Given the description of an element on the screen output the (x, y) to click on. 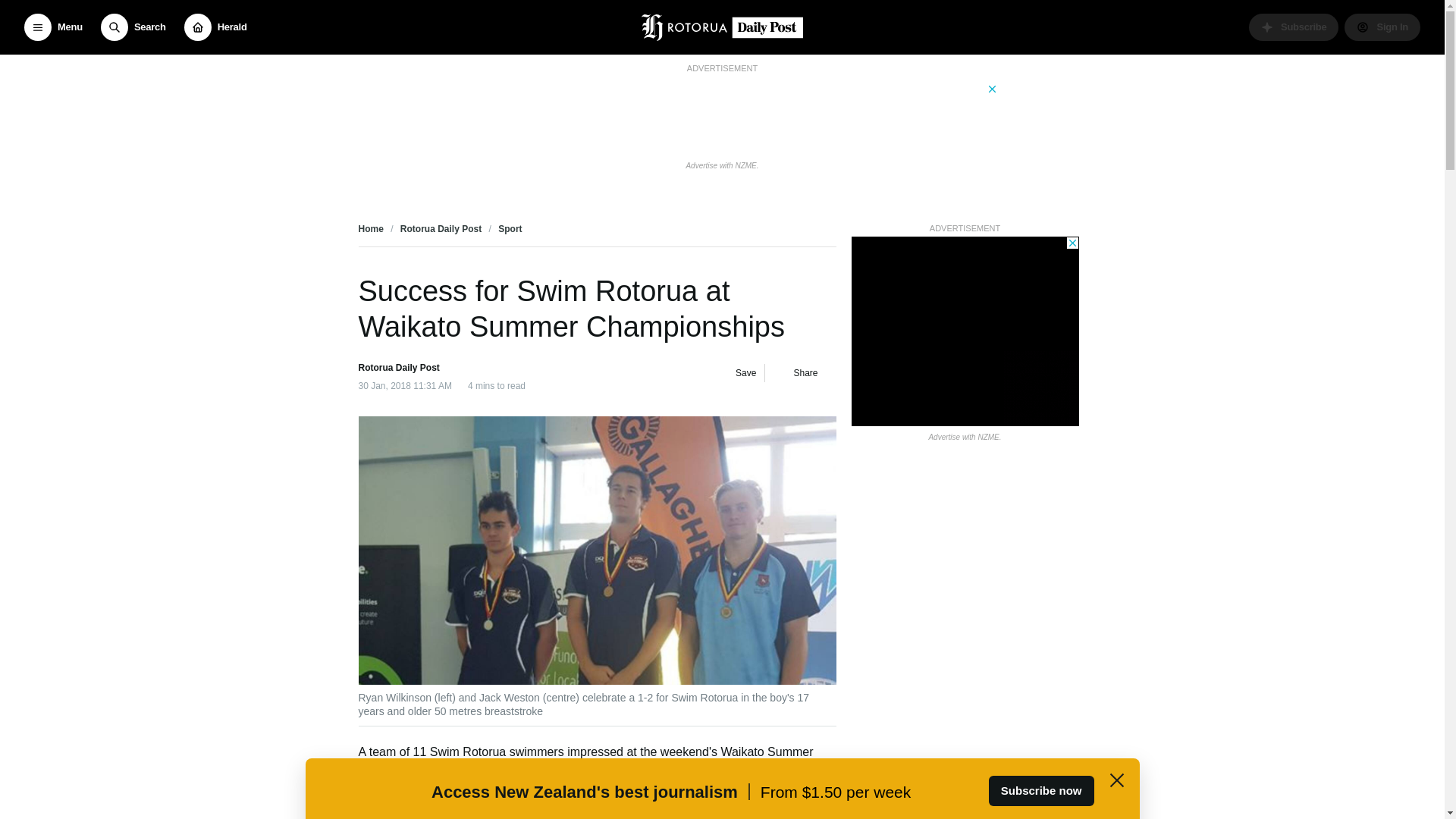
Herald (215, 26)
Subscribe (1294, 26)
3rd party ad content (964, 330)
3rd party ad content (721, 115)
Search (132, 26)
Sign In (1382, 26)
Menu (53, 26)
Manage your account (1382, 26)
